Given the description of an element on the screen output the (x, y) to click on. 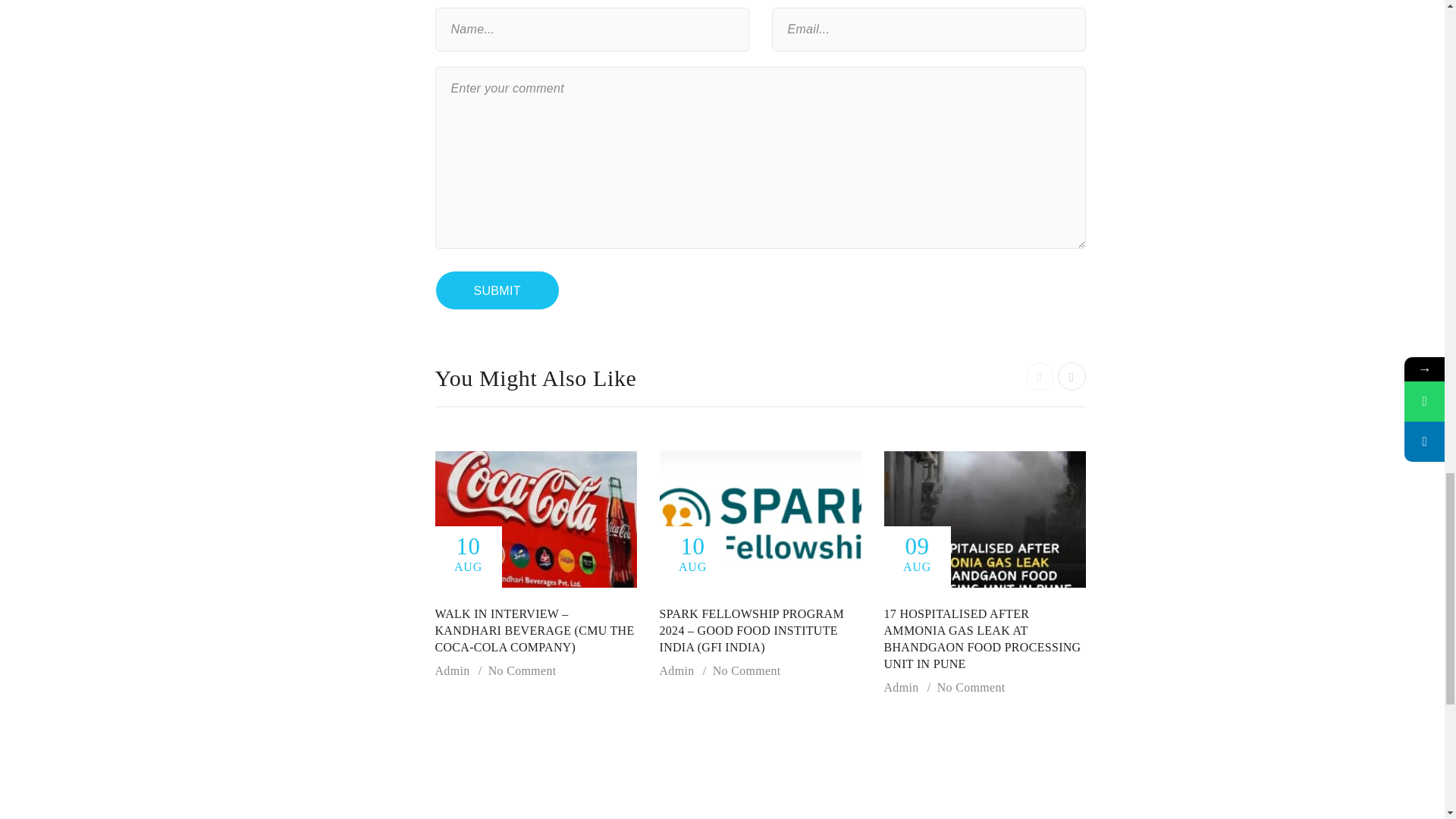
Submit (497, 290)
Submit (497, 290)
Admin (900, 686)
No Comment (971, 686)
Admin (676, 670)
No Comment (521, 670)
Admin (452, 670)
No Comment (746, 670)
